Given the description of an element on the screen output the (x, y) to click on. 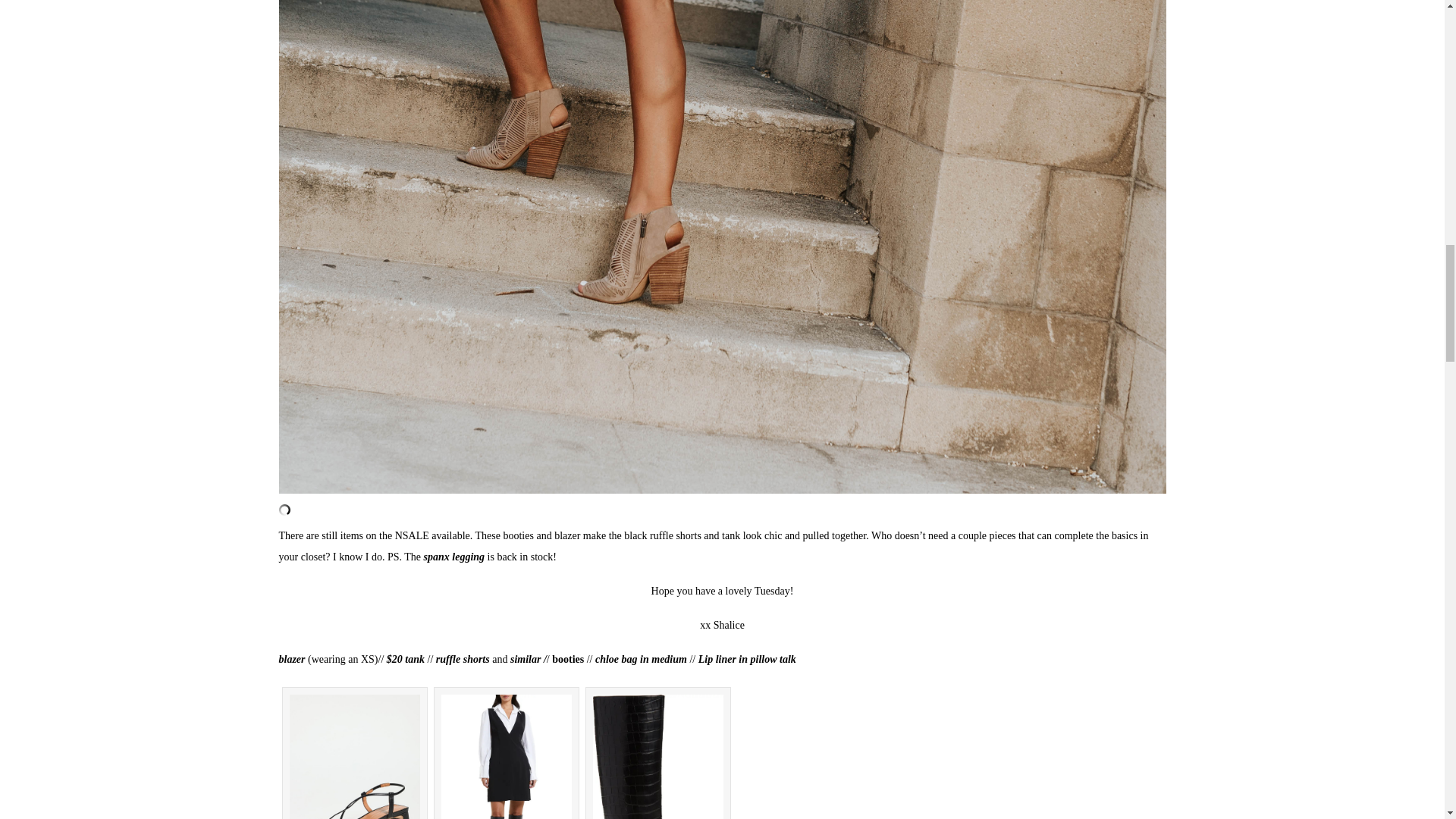
chloe bag in medium (641, 659)
blazer (293, 659)
ruffle shorts (462, 659)
booties (567, 659)
Lip liner in pillow talk (747, 659)
spanx legging (452, 556)
